Given the description of an element on the screen output the (x, y) to click on. 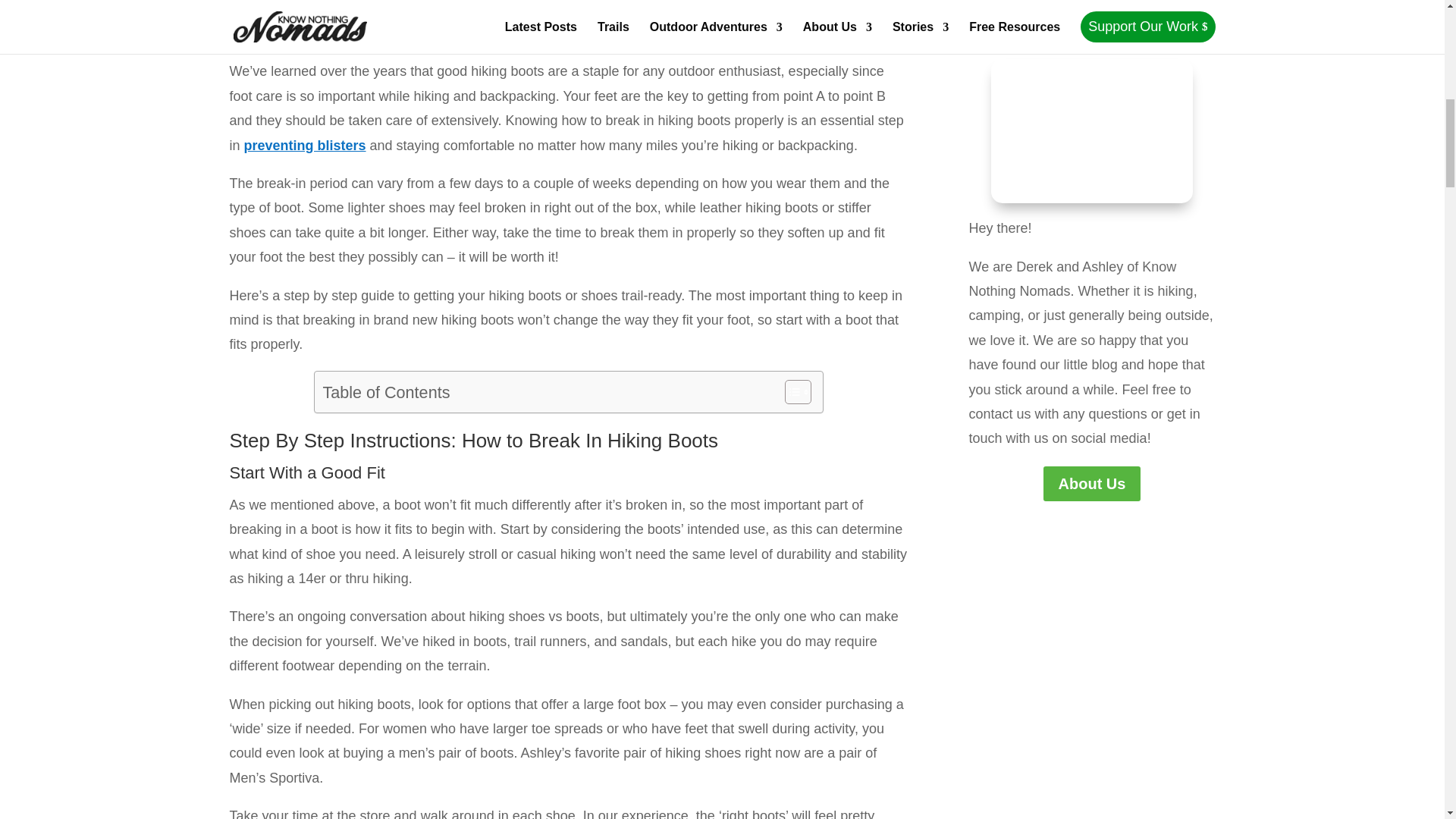
breakin-hikingboots-banner (721, 20)
preventing blisters (305, 145)
